Given the description of an element on the screen output the (x, y) to click on. 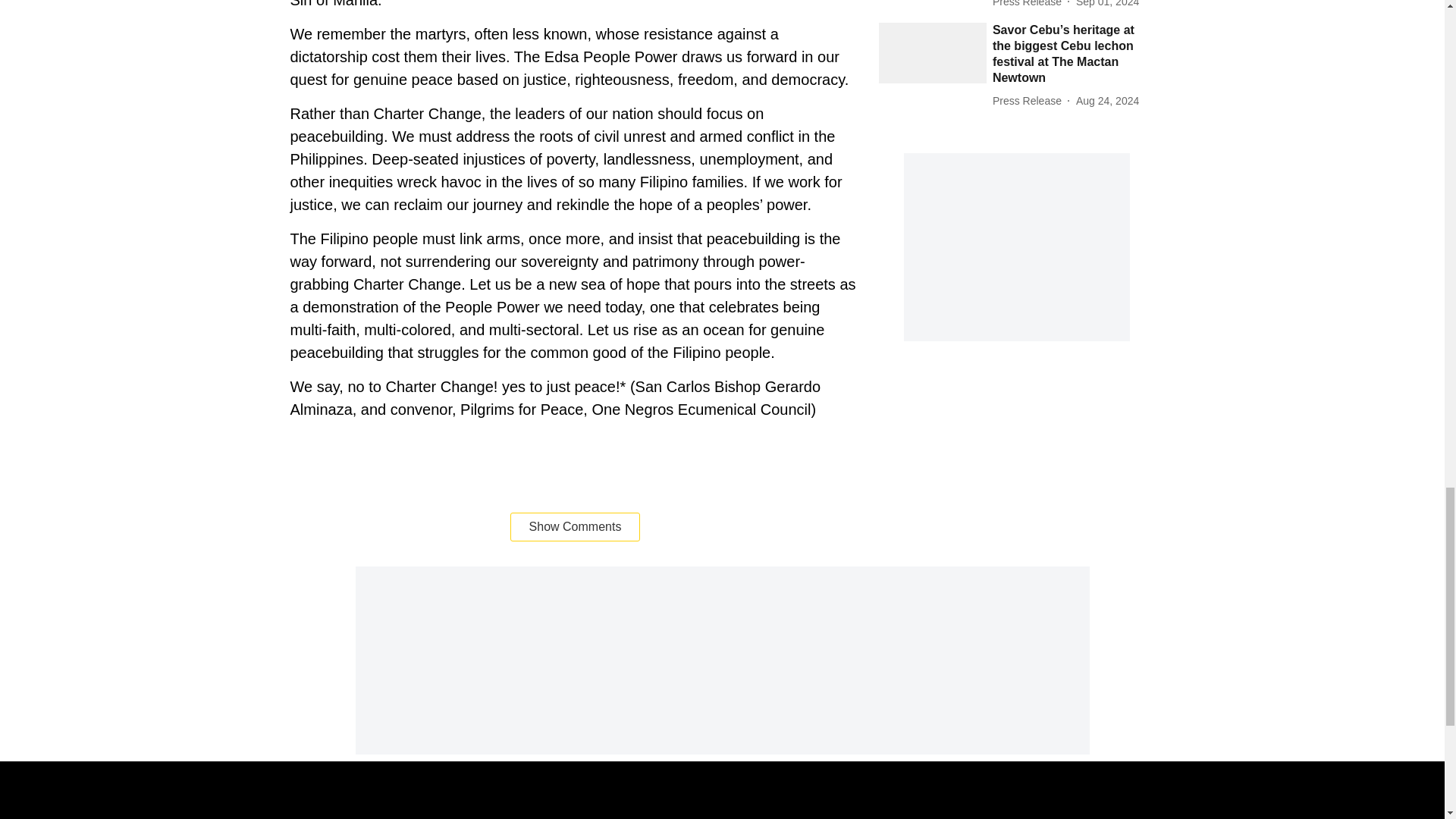
Show Comments (575, 526)
2024-08-24 03:00 (1106, 100)
2024-09-01 04:07 (1106, 4)
